Given the description of an element on the screen output the (x, y) to click on. 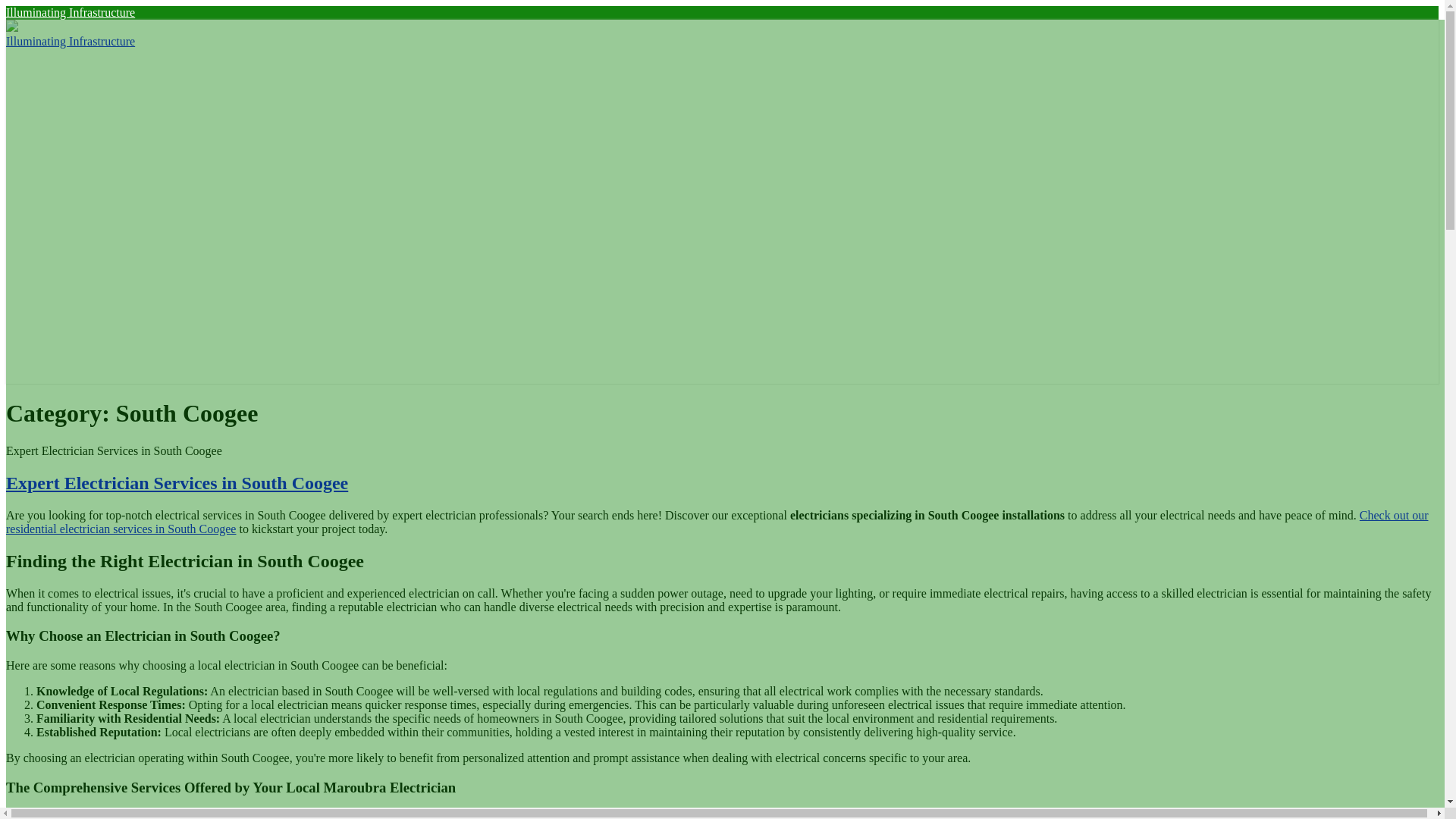
Expert Electrician Services in South Coogee (176, 483)
Local Maroubra Electrician (88, 814)
Illuminating Infrastructure (70, 11)
